Given the description of an element on the screen output the (x, y) to click on. 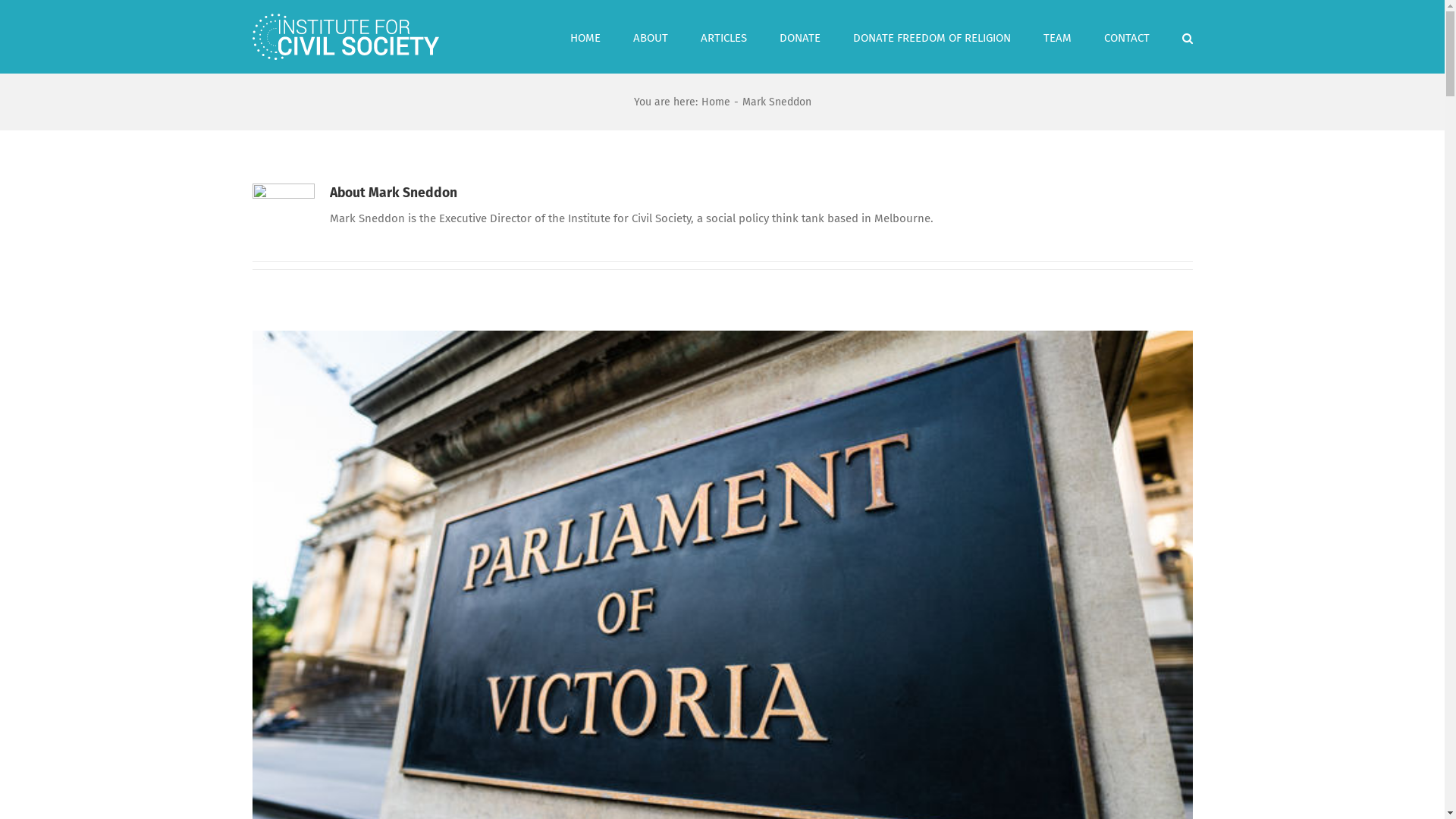
DONATE FREEDOM OF RELIGION Element type: text (931, 36)
ARTICLES Element type: text (723, 36)
CONTACT Element type: text (1126, 36)
HOME Element type: text (585, 36)
DONATE Element type: text (799, 36)
ABOUT Element type: text (649, 36)
TEAM Element type: text (1057, 36)
Home Element type: text (714, 101)
